Given the description of an element on the screen output the (x, y) to click on. 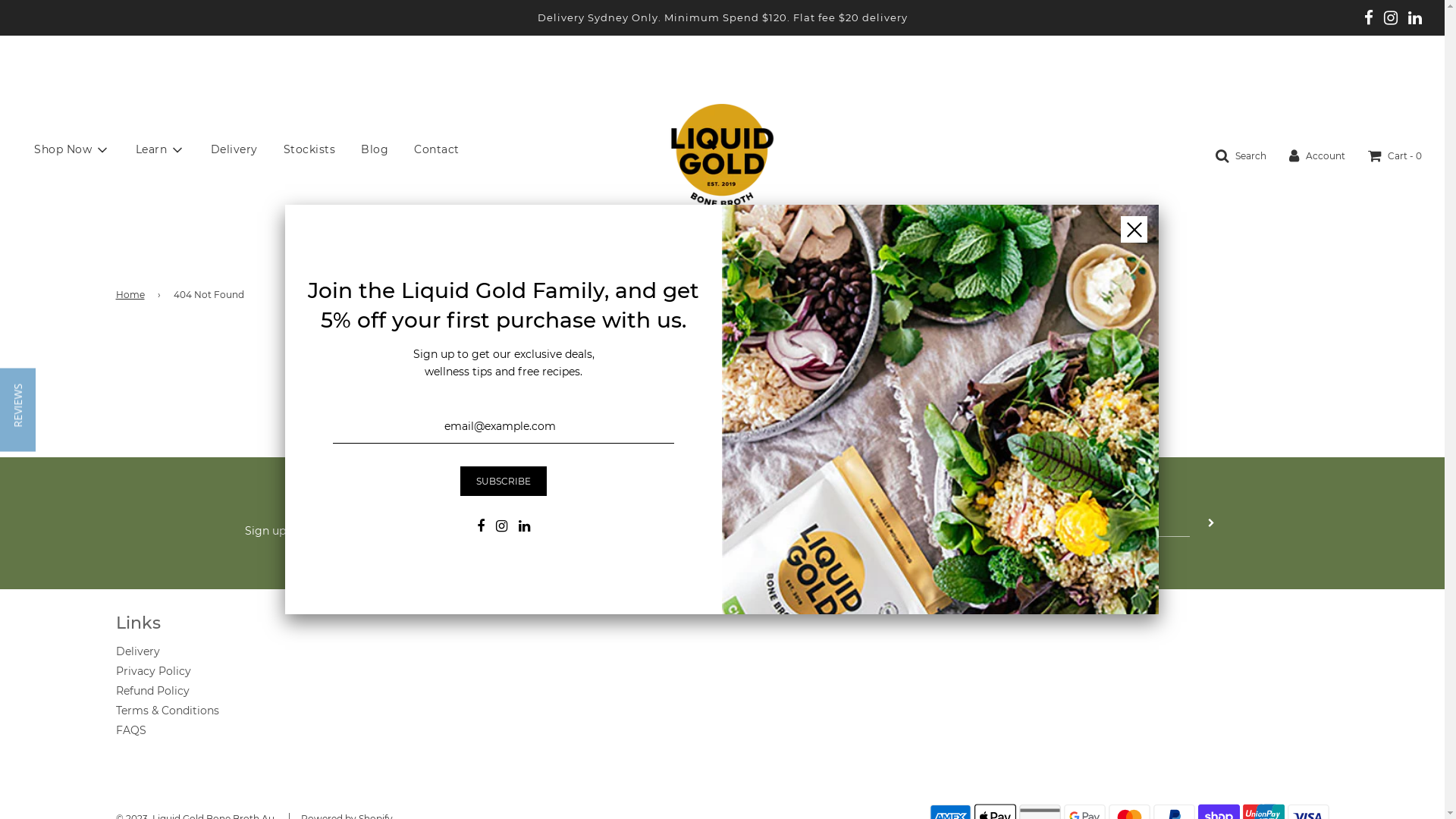
Search Element type: text (1240, 155)
FAQS Element type: text (130, 730)
Cart - 0 Element type: text (1394, 155)
Account Element type: text (1317, 155)
Delivery Element type: text (233, 149)
Terms & Conditions Element type: text (166, 710)
here Element type: text (781, 399)
Stockists Element type: text (308, 149)
Contact Element type: text (436, 149)
Privacy Policy Element type: text (152, 670)
Refund Policy Element type: text (151, 690)
Home Element type: text (132, 294)
Delivery Element type: text (137, 651)
Subscribe Element type: text (503, 480)
Shop Now Element type: text (71, 149)
Blog Element type: text (374, 149)
Learn Element type: text (160, 149)
